Given the description of an element on the screen output the (x, y) to click on. 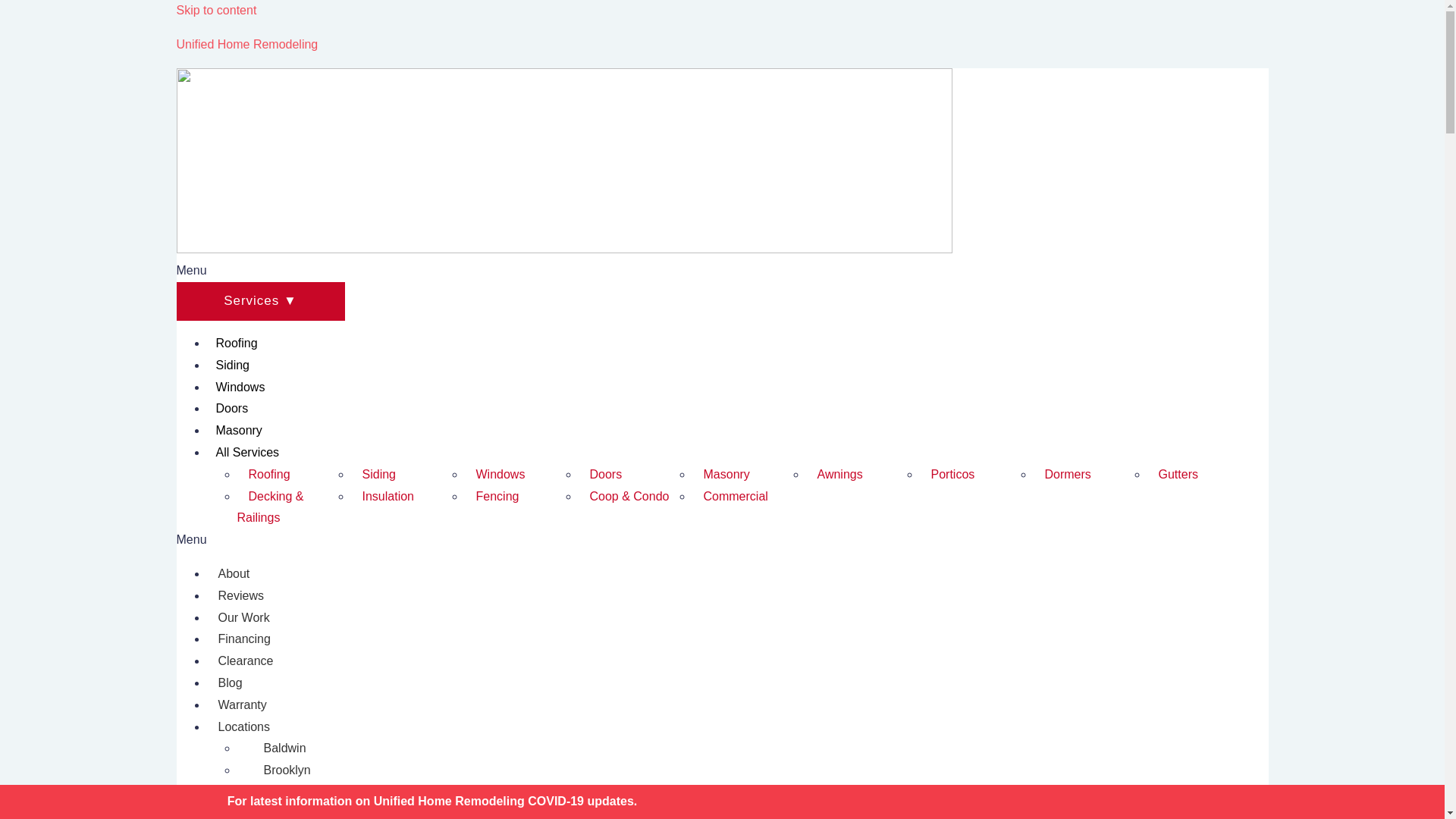
Reviews (240, 595)
Roofing (266, 474)
Siding (231, 365)
Skip to content (216, 10)
Awnings (837, 474)
Our Work (243, 617)
Patchogue (284, 807)
Roofing (236, 343)
Locations (243, 726)
Windows (239, 386)
